Given the description of an element on the screen output the (x, y) to click on. 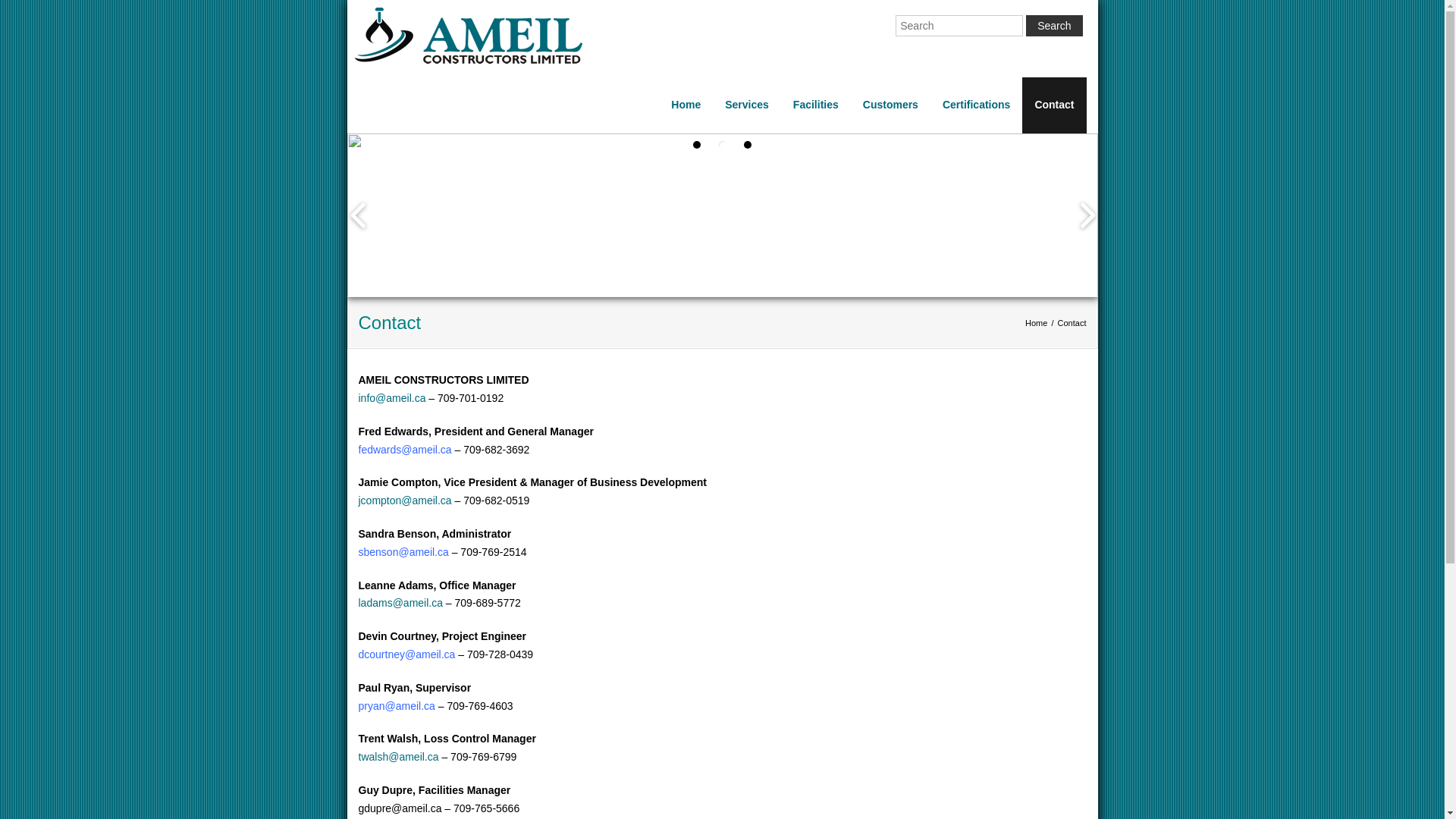
Services Element type: text (746, 105)
Certifications Element type: text (976, 105)
Home Element type: text (685, 105)
@ameil.ca Element type: text (410, 705)
Contact Element type: text (1053, 105)
ladams@ameil.ca Element type: text (399, 602)
twalsh@ameil.ca Element type: text (397, 756)
Facilities Element type: text (815, 105)
AMEIL Constructors Limited Element type: text (470, 100)
Home Element type: text (1036, 322)
Customers Element type: text (890, 105)
info@ameil.ca Element type: text (391, 398)
@ameil.ca Element type: text (429, 654)
Search Element type: text (1054, 25)
jcompton@ameil.ca Element type: text (404, 500)
fedwards@ameil.ca Element type: text (404, 449)
sbenson@ameil.ca Element type: text (402, 552)
